Given the description of an element on the screen output the (x, y) to click on. 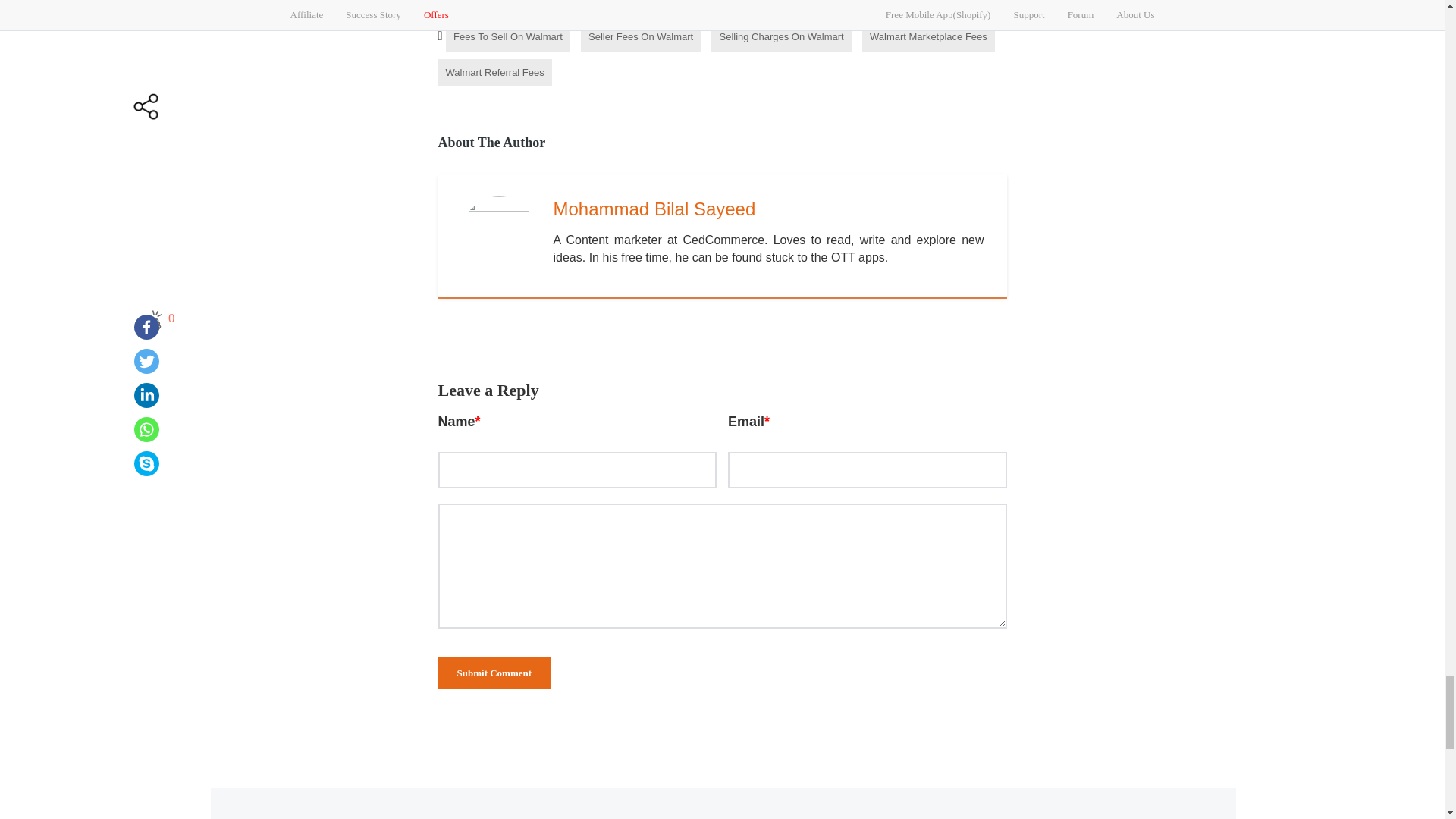
Submit Comment (494, 673)
